Given the description of an element on the screen output the (x, y) to click on. 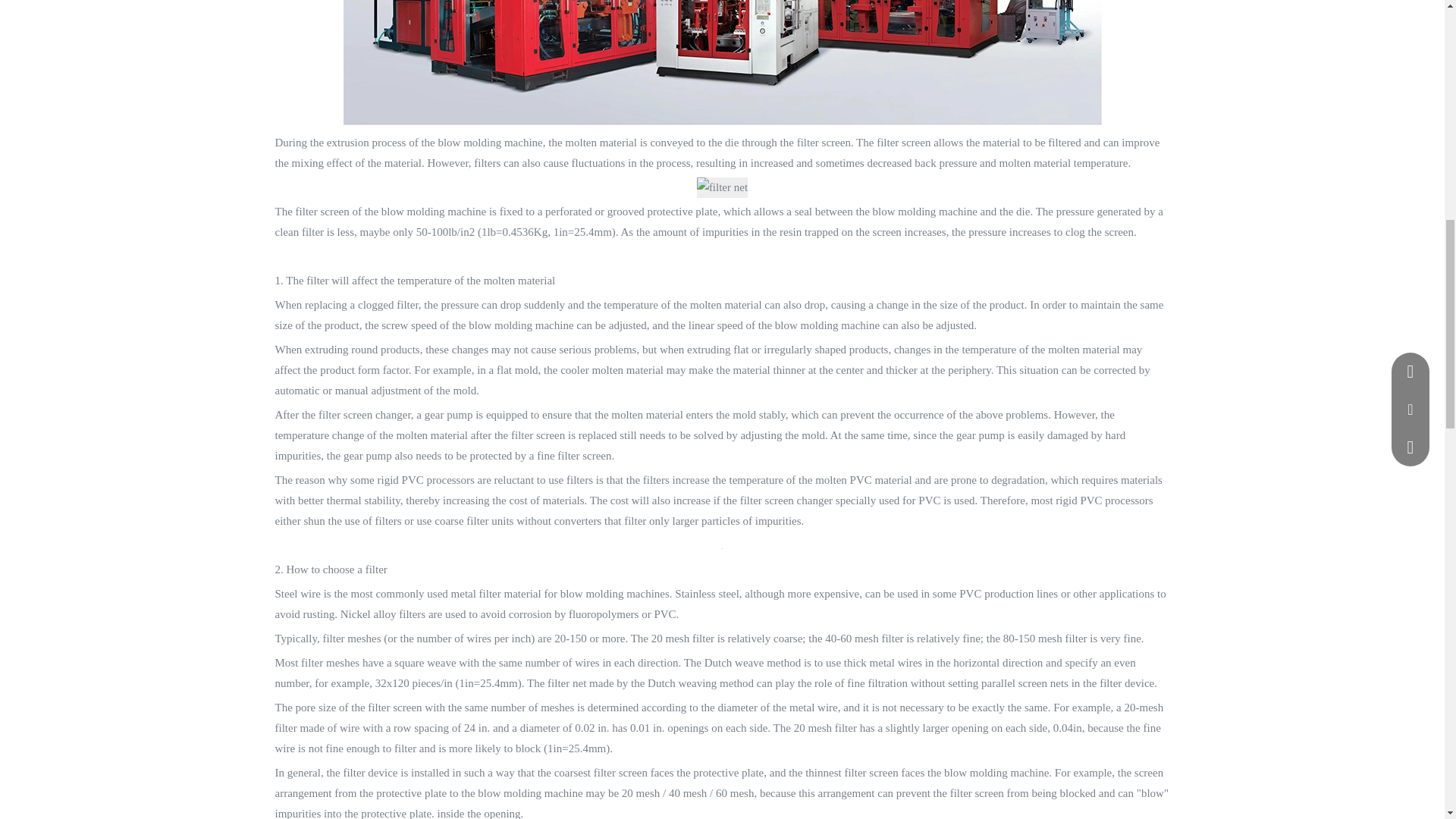
filter net (722, 187)
